Given the description of an element on the screen output the (x, y) to click on. 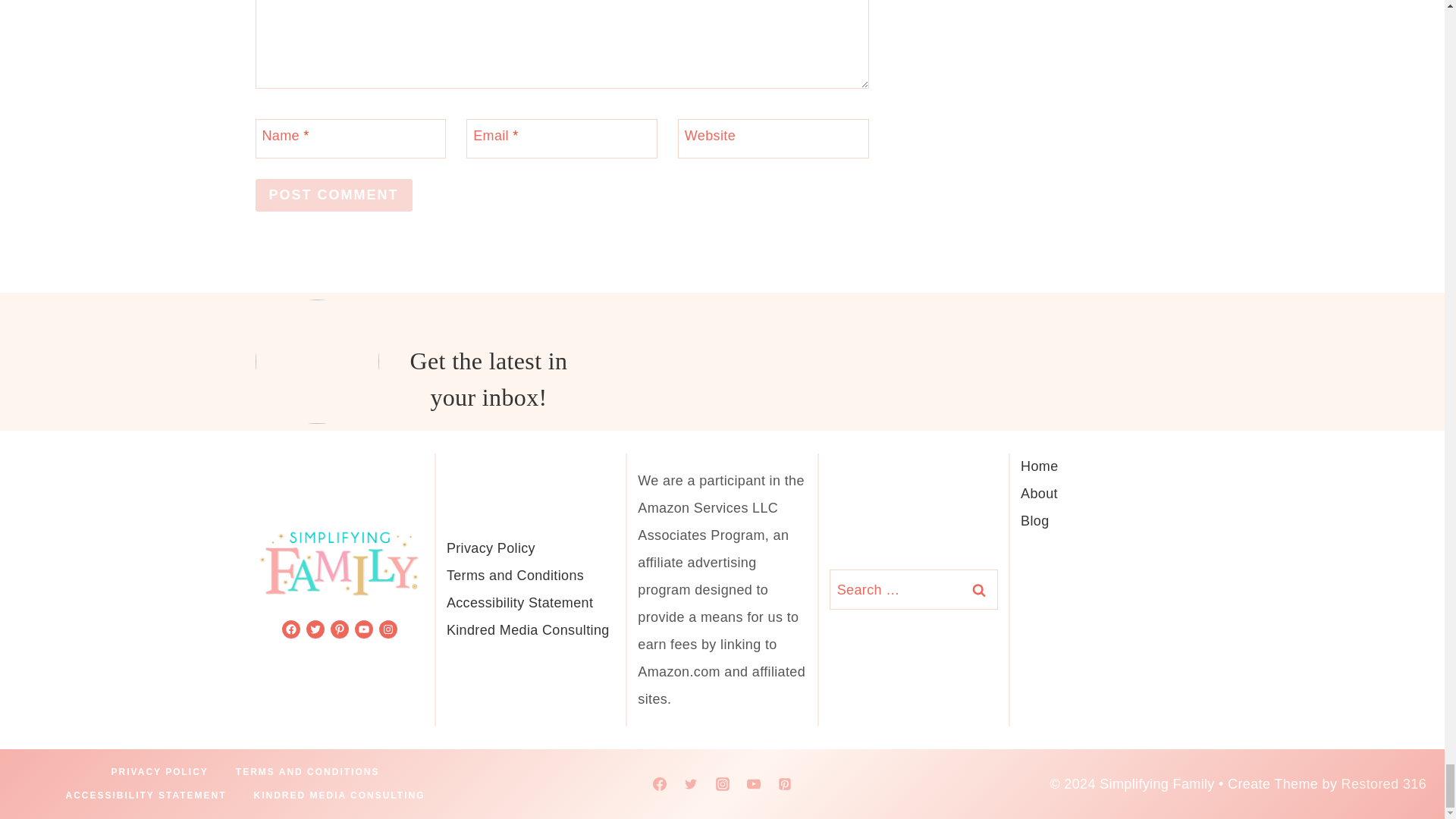
Post Comment (333, 195)
Search (978, 589)
Search (978, 589)
